Given the description of an element on the screen output the (x, y) to click on. 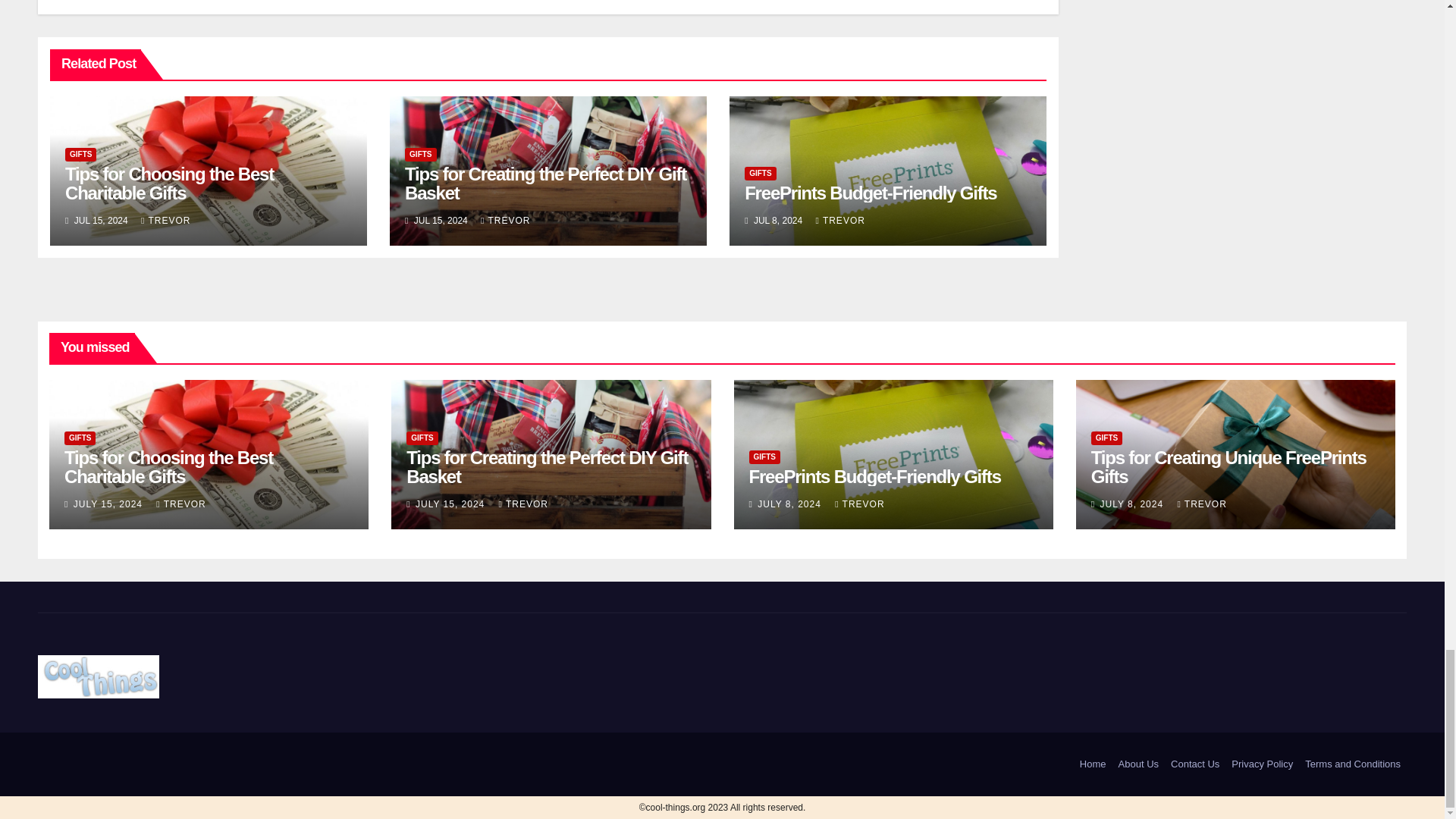
Home (1093, 764)
Permalink to: Tips for Creating Unique FreePrints Gifts (1228, 466)
TREVOR (839, 220)
Permalink to: Tips for Creating the Perfect DIY Gift Basket (546, 466)
TREVOR (504, 220)
Tips for Choosing the Best Charitable Gifts (169, 183)
Permalink to: Tips for Choosing the Best Charitable Gifts (169, 183)
TREVOR (165, 220)
GIFTS (419, 154)
Permalink to: FreePrints Budget-Friendly Gifts (869, 192)
Permalink to: Tips for Creating the Perfect DIY Gift Basket (544, 183)
FreePrints Budget-Friendly Gifts (869, 192)
Permalink to: Tips for Choosing the Best Charitable Gifts (168, 466)
Permalink to: FreePrints Budget-Friendly Gifts (875, 476)
Tips for Creating the Perfect DIY Gift Basket (544, 183)
